Given the description of an element on the screen output the (x, y) to click on. 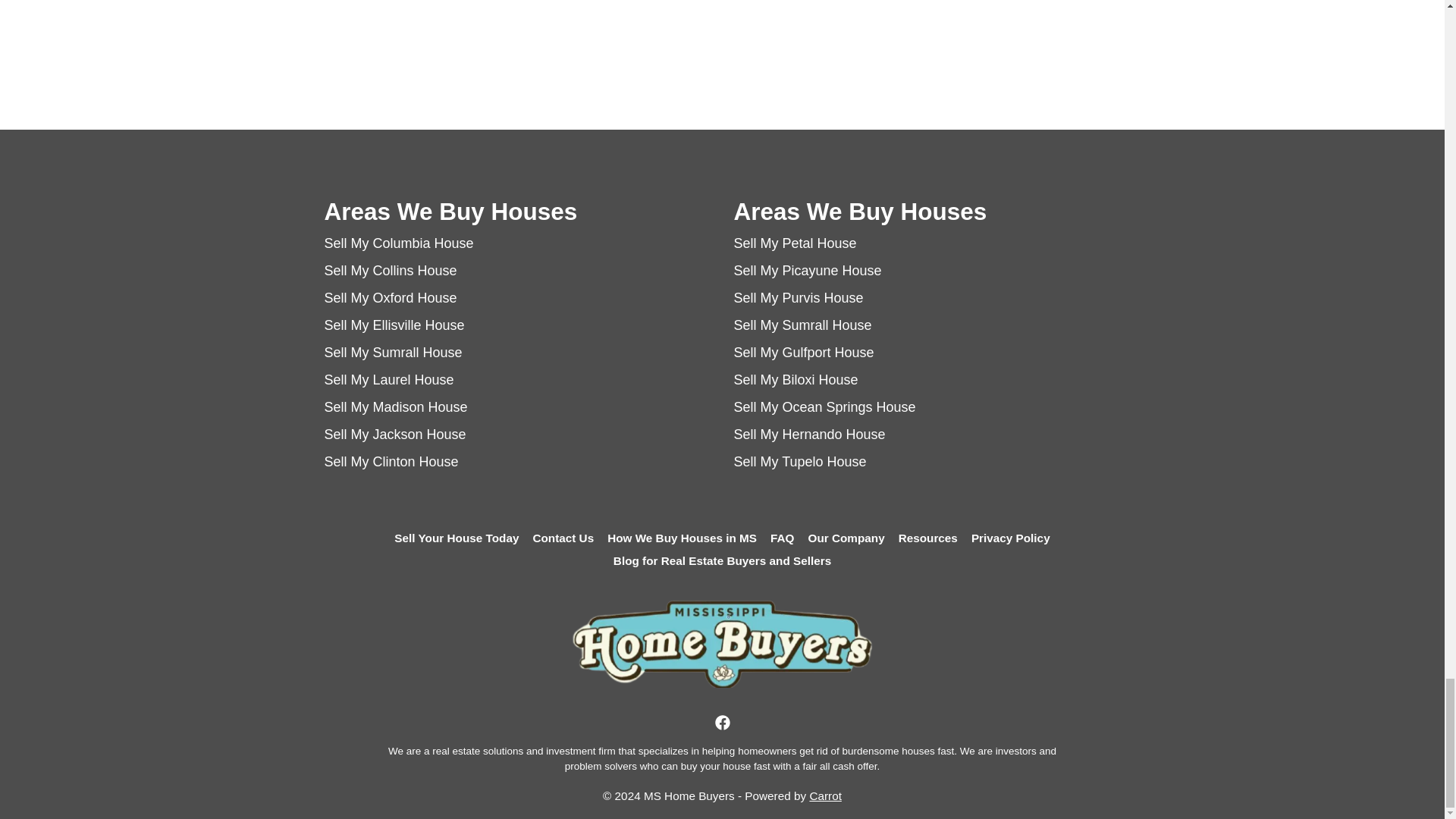
Sell My Madison House (395, 406)
Sell My Jackson House (394, 434)
Sell My Collins House (390, 270)
Sell My Laurel House (389, 379)
Sell My Purvis House (798, 297)
Sell My Columbia House (399, 242)
Sell My Ellisville House (394, 324)
Sell My Sumrall House (393, 352)
Sell My Oxford House (390, 297)
Sell My Sumrall House (802, 324)
